Given the description of an element on the screen output the (x, y) to click on. 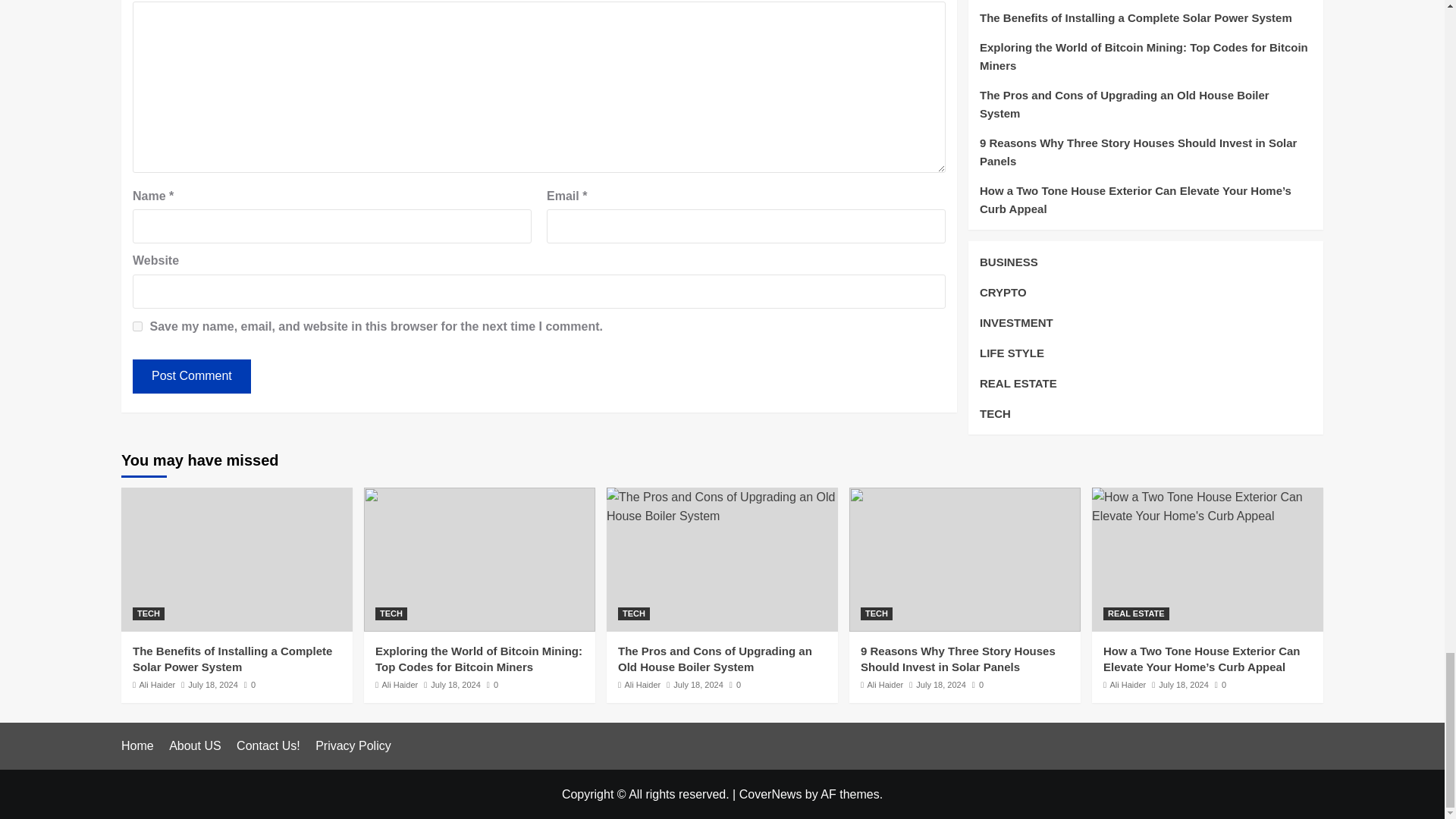
Post Comment (191, 376)
yes (137, 326)
